Given the description of an element on the screen output the (x, y) to click on. 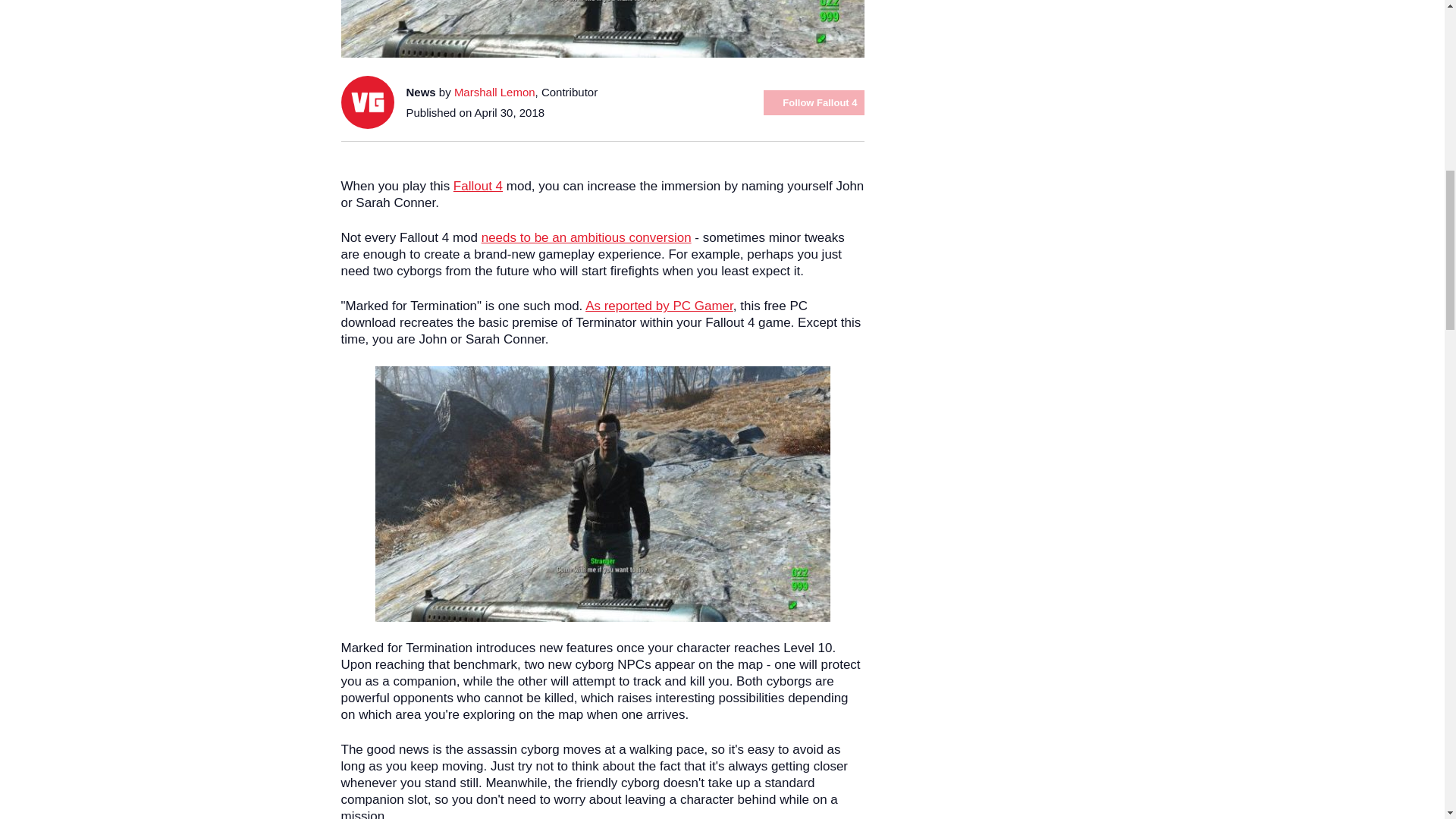
Follow Fallout 4 (812, 102)
As reported by PC Gamer (659, 305)
needs to be an ambitious conversion (586, 237)
Marshall Lemon (494, 91)
Fallout 4 (477, 186)
Follow Fallout 4 (812, 102)
